Given the description of an element on the screen output the (x, y) to click on. 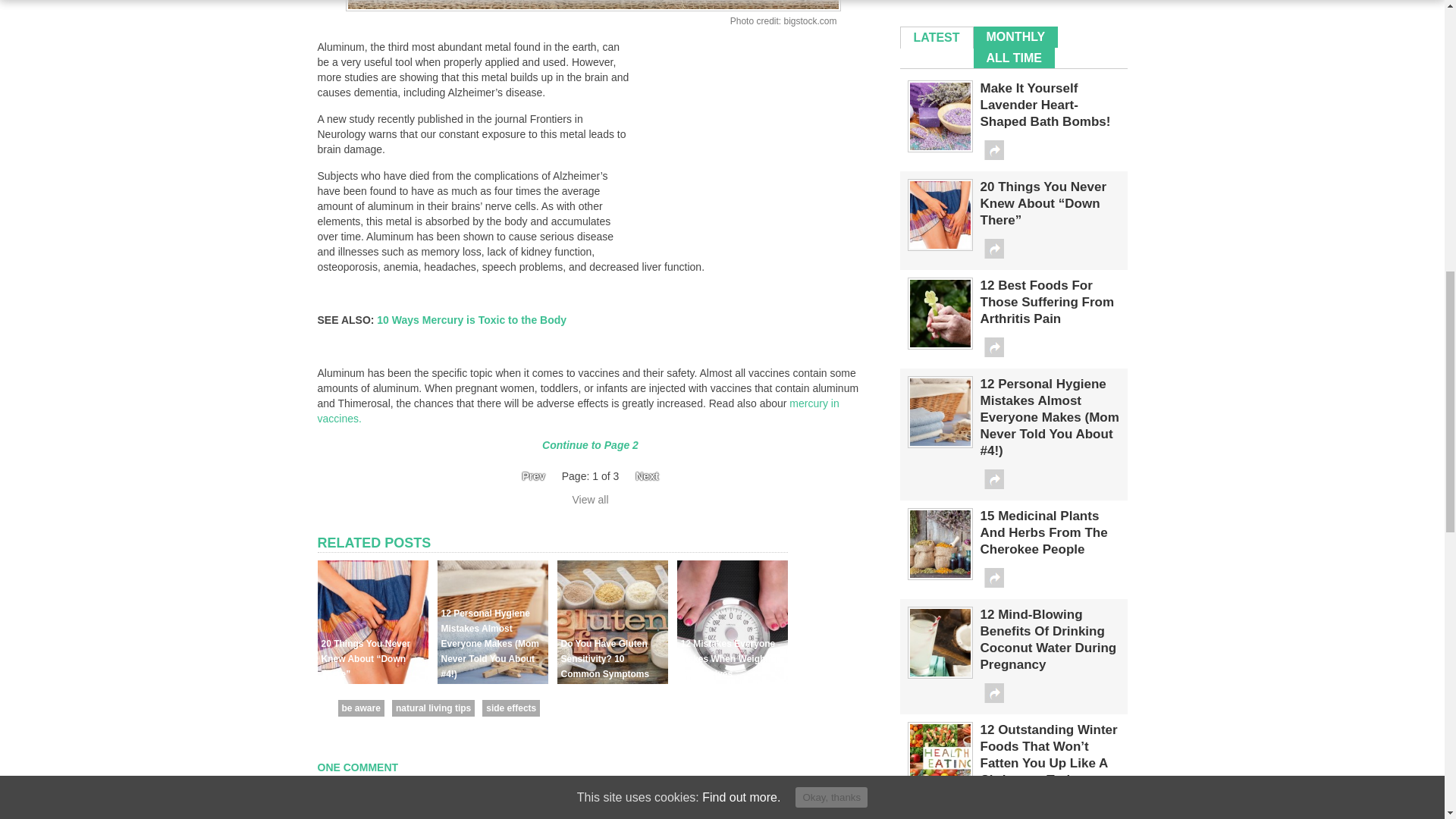
View all (590, 499)
mercury in vaccines. (577, 411)
Next (650, 476)
 10 Ways Mercury is Toxic to the Body (470, 319)
Prev (528, 476)
